Given the description of an element on the screen output the (x, y) to click on. 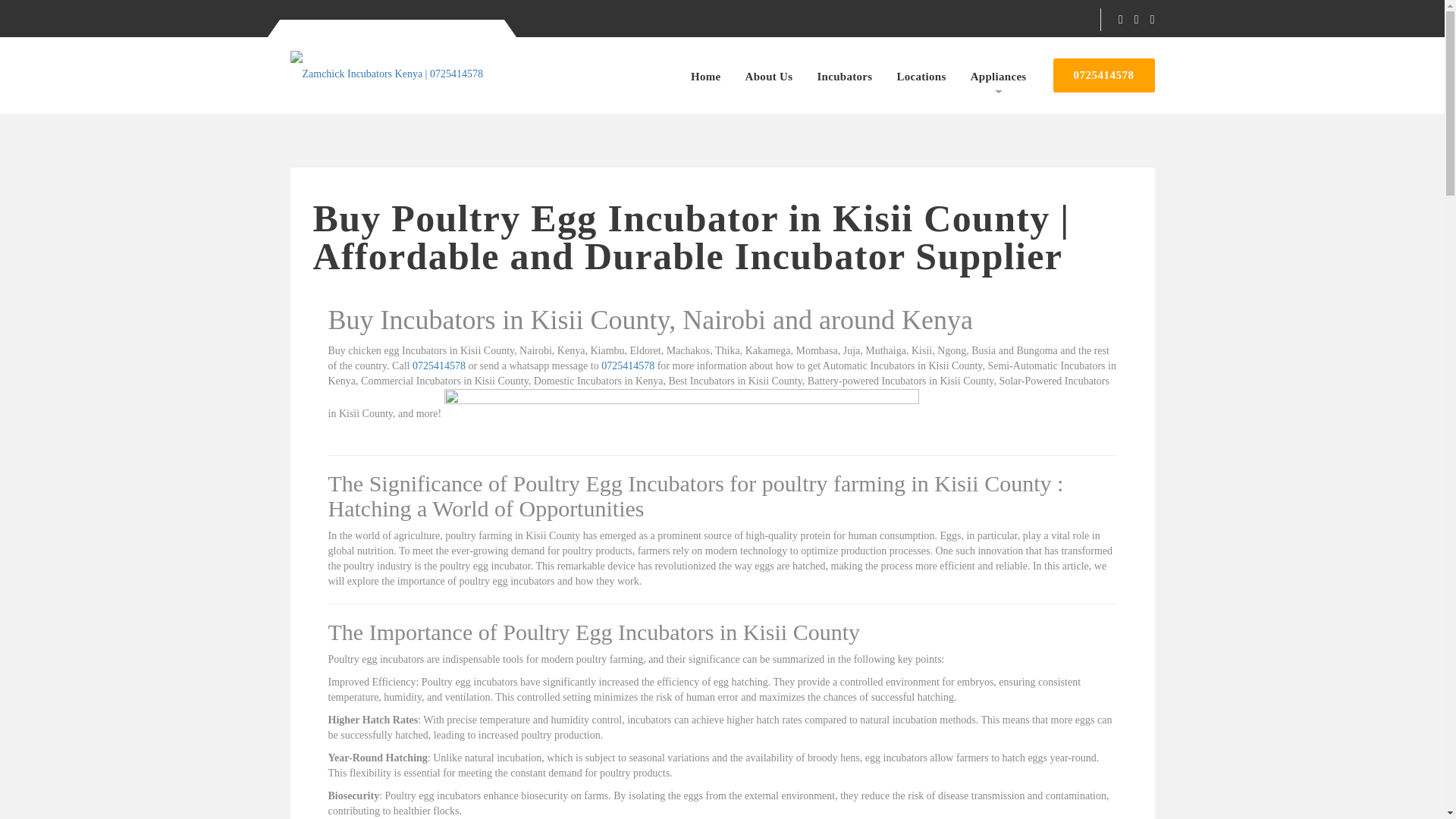
Locations (920, 76)
0725414578 (1103, 75)
Incubators (844, 76)
Home (705, 76)
0725414578 (438, 365)
Appliances (998, 76)
About Us (769, 76)
0725414578 (627, 365)
